Given the description of an element on the screen output the (x, y) to click on. 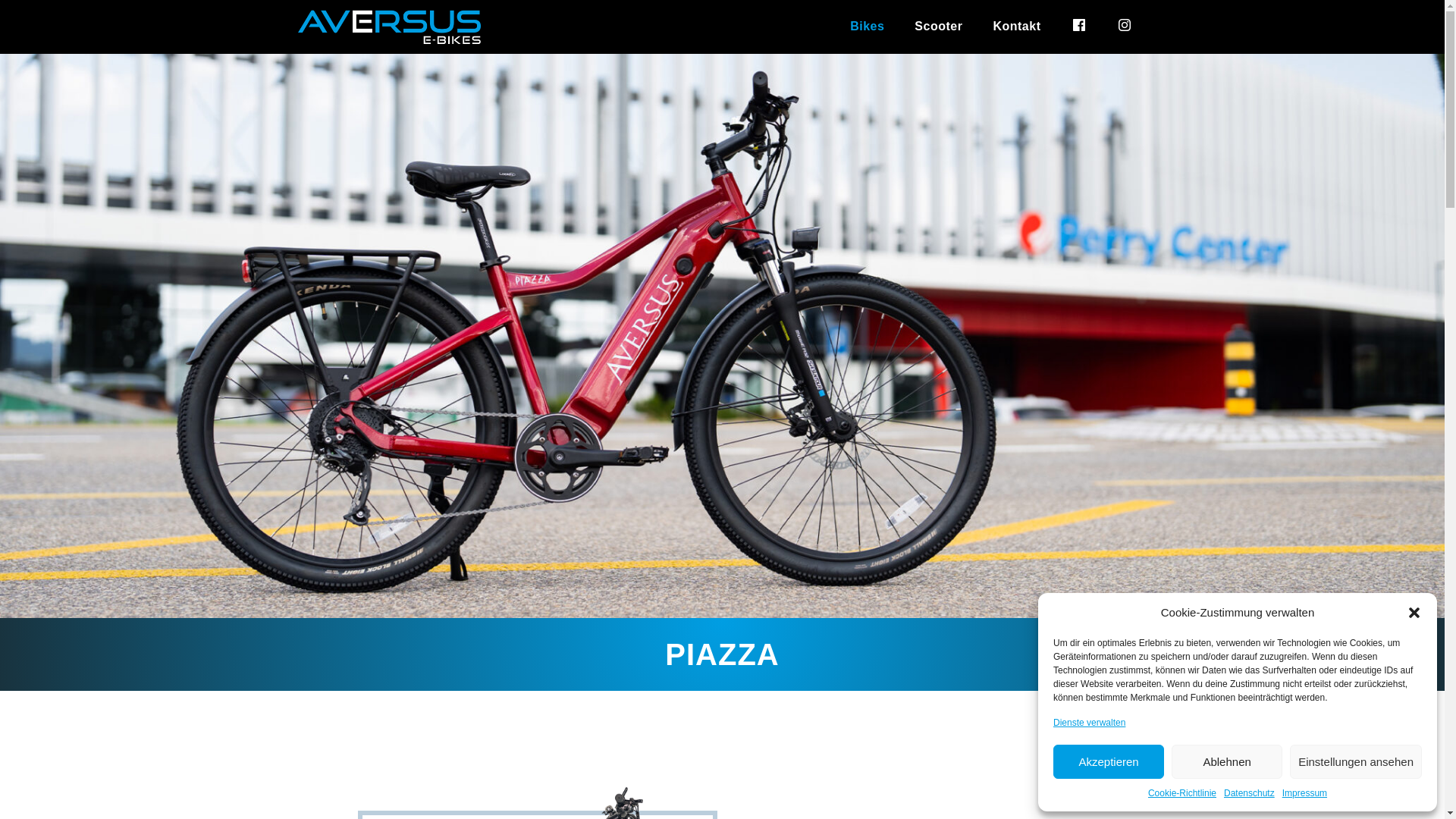
Ablehnen Element type: text (1226, 761)
Bikes Element type: text (866, 26)
Akzeptieren Element type: text (1108, 761)
Kontakt Element type: text (1016, 26)
Wheelmaster Felgen Element type: hover (388, 26)
facebook Element type: hover (1078, 26)
instagram Element type: hover (1123, 26)
Impressum Element type: text (1304, 793)
Einstellungen ansehen Element type: text (1355, 761)
Cookie-Richtlinie Element type: text (1182, 793)
Dienste verwalten Element type: text (1089, 722)
Scooter Element type: text (938, 26)
Datenschutz Element type: text (1248, 793)
